Given the description of an element on the screen output the (x, y) to click on. 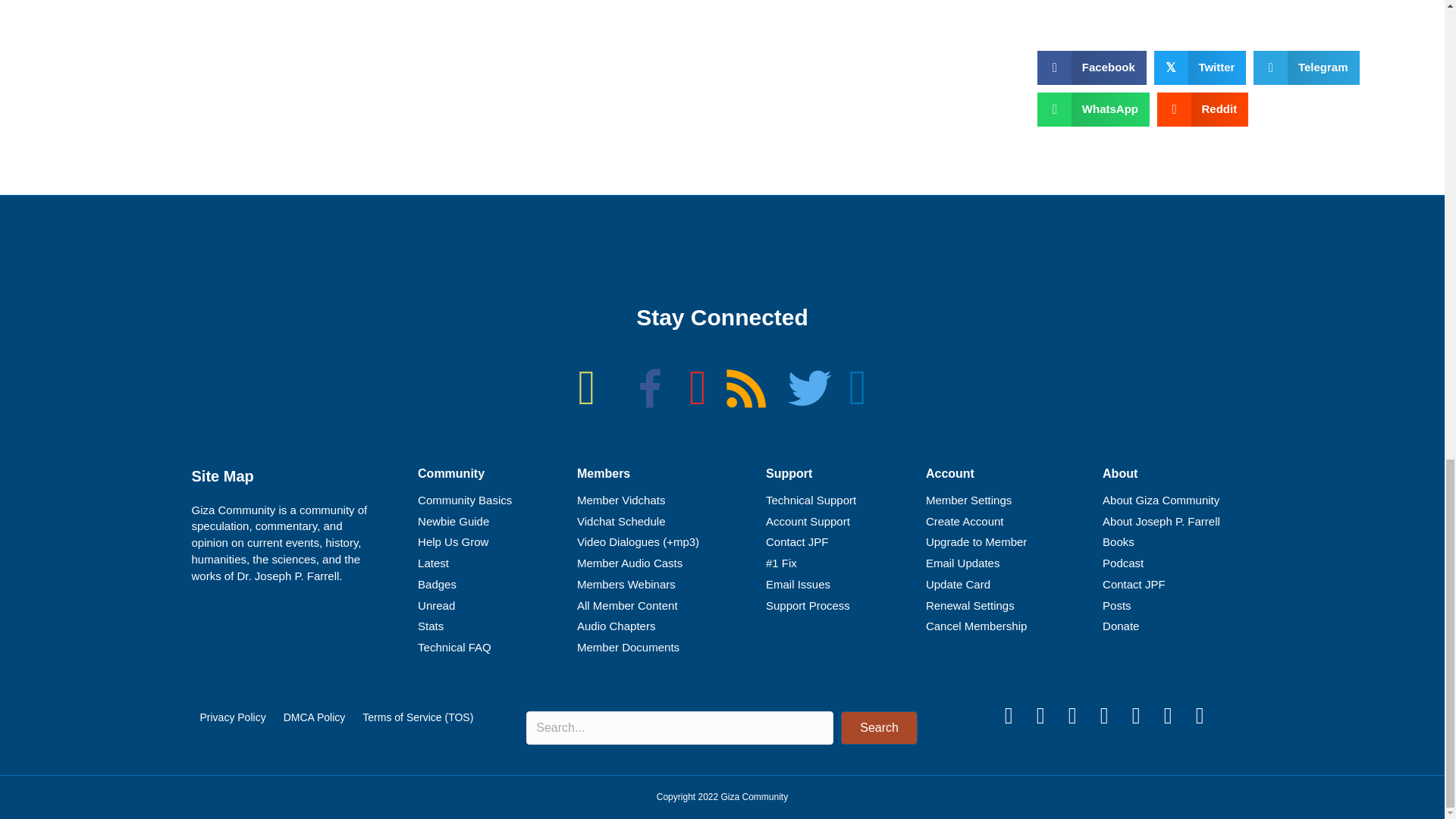
Twitter (1007, 715)
Instagram (1039, 715)
